Given the description of an element on the screen output the (x, y) to click on. 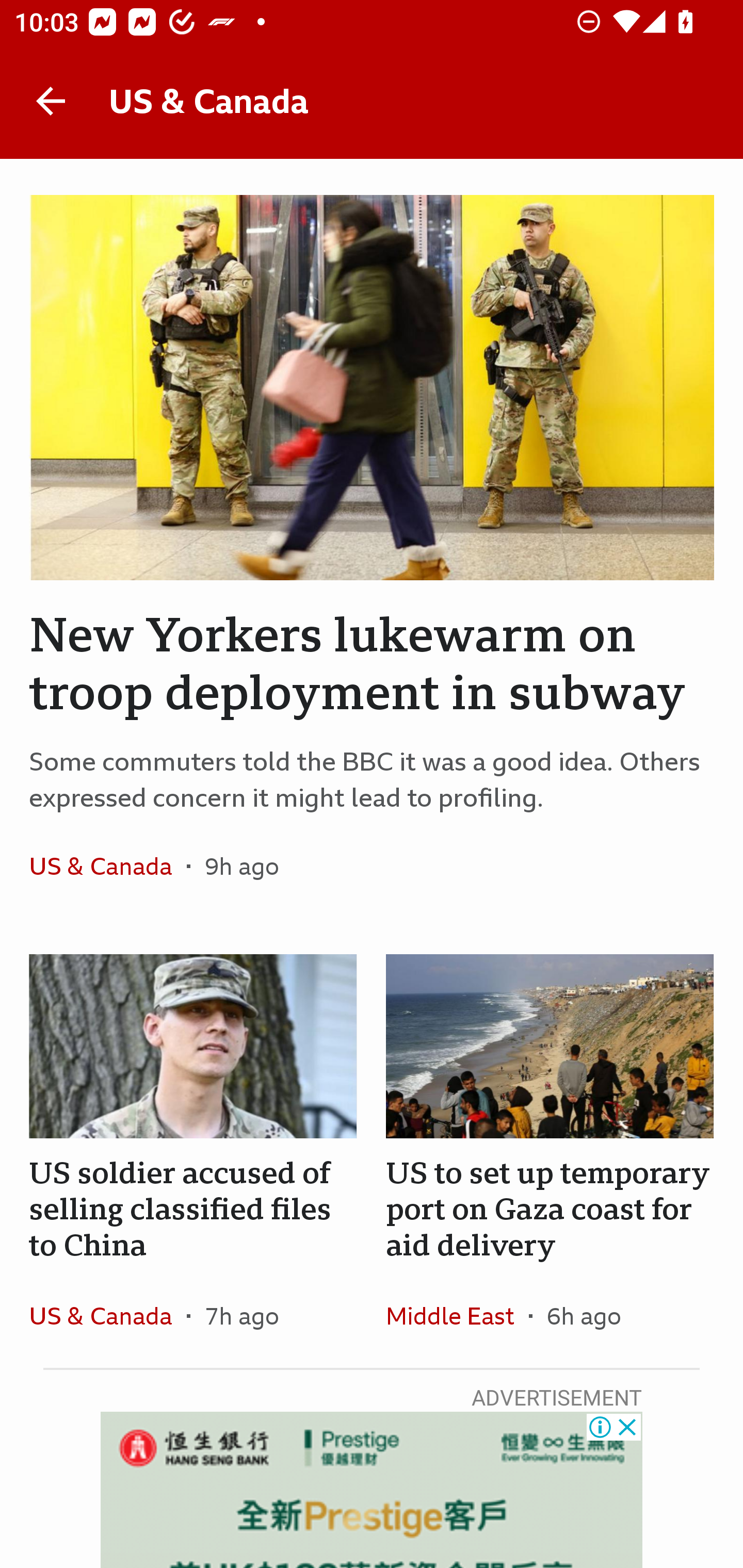
Back (50, 101)
US & Canada In the section US & Canada (107, 865)
US & Canada In the section US & Canada (107, 1315)
Middle East In the section Middle East (457, 1315)
Advertisement (371, 1489)
